Given the description of an element on the screen output the (x, y) to click on. 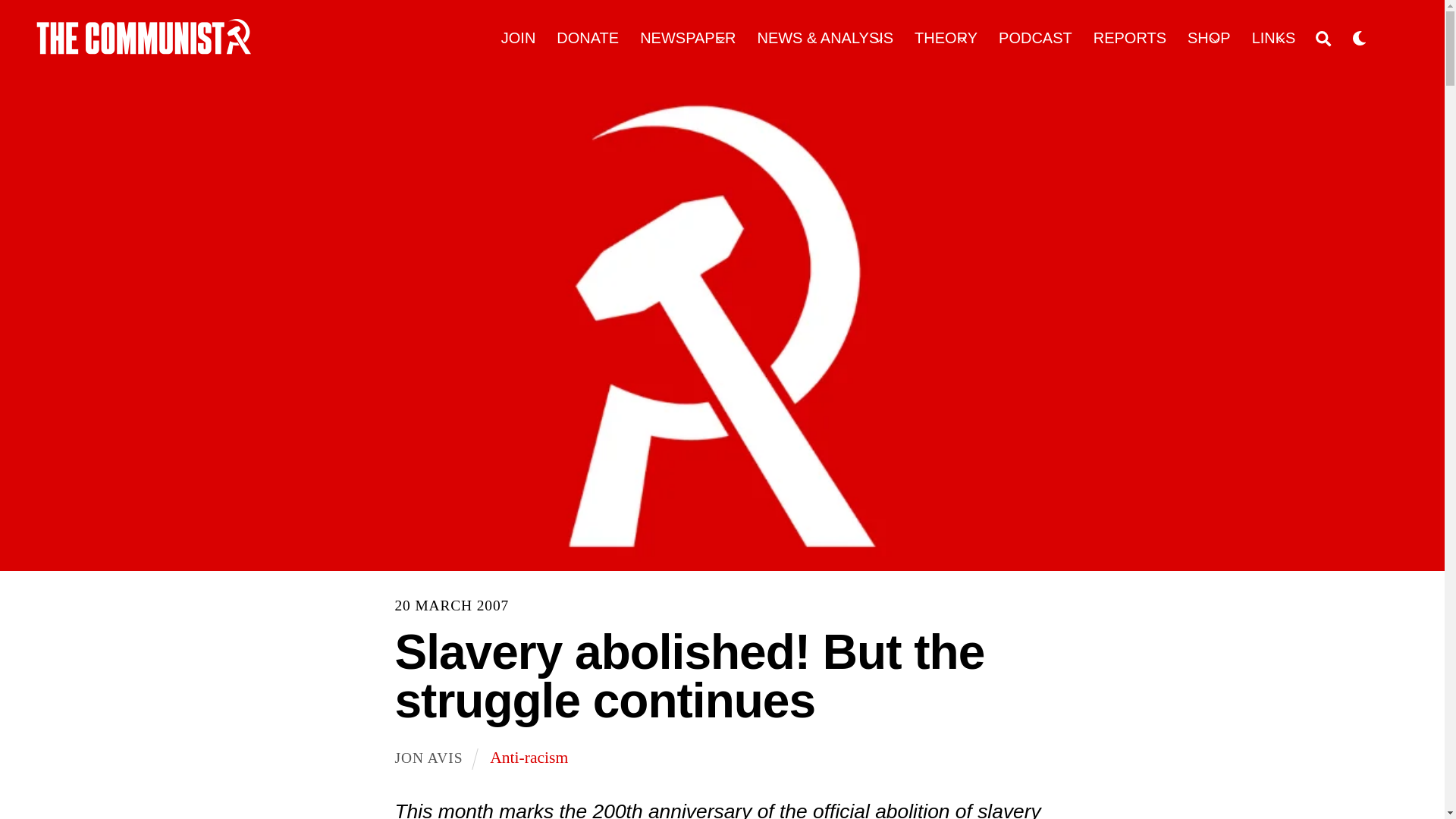
The Communist (143, 49)
The Communist (143, 37)
NEWSPAPER (688, 37)
DONATE (587, 37)
